Given the description of an element on the screen output the (x, y) to click on. 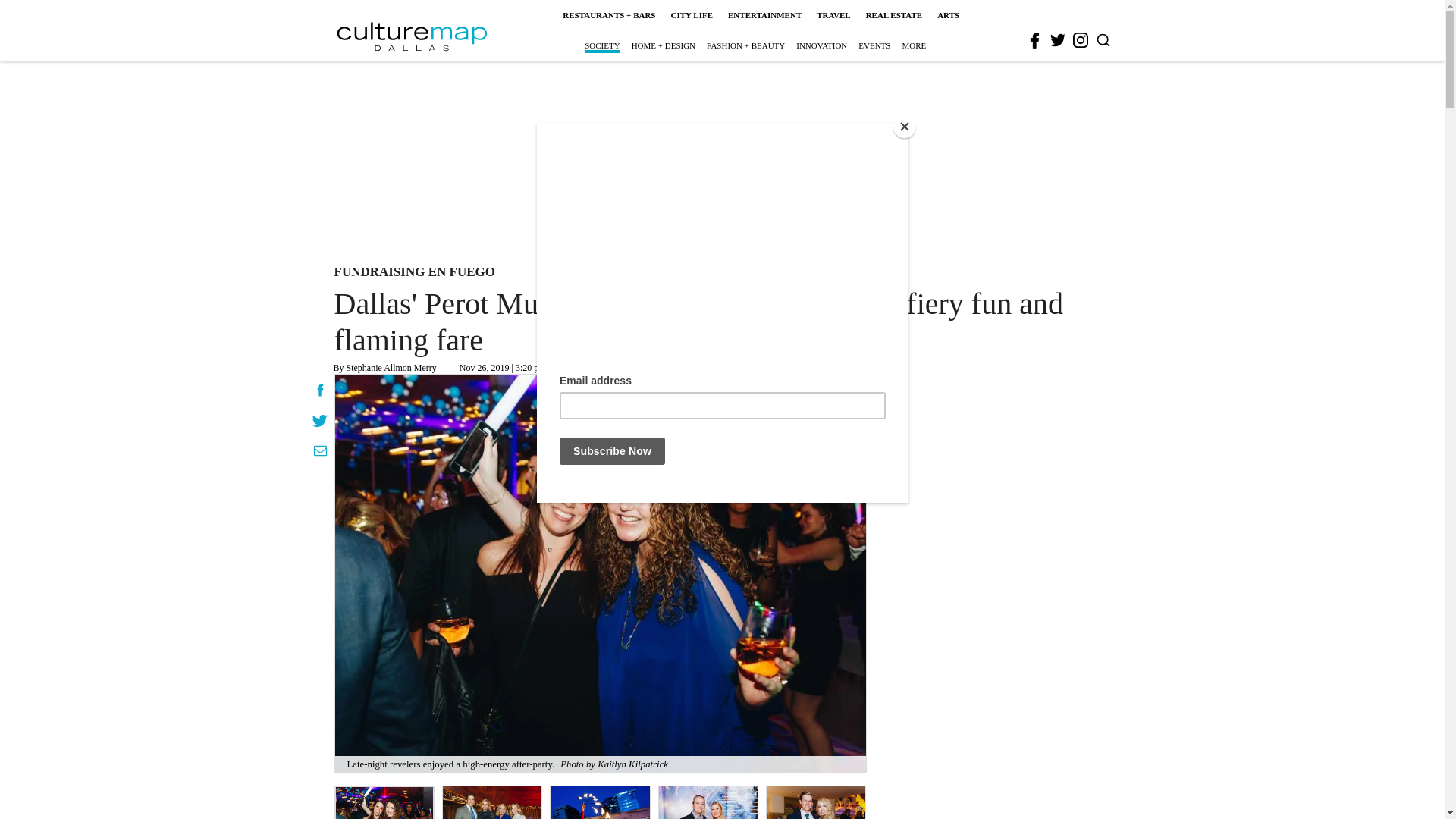
3rd party ad content (721, 160)
